Given the description of an element on the screen output the (x, y) to click on. 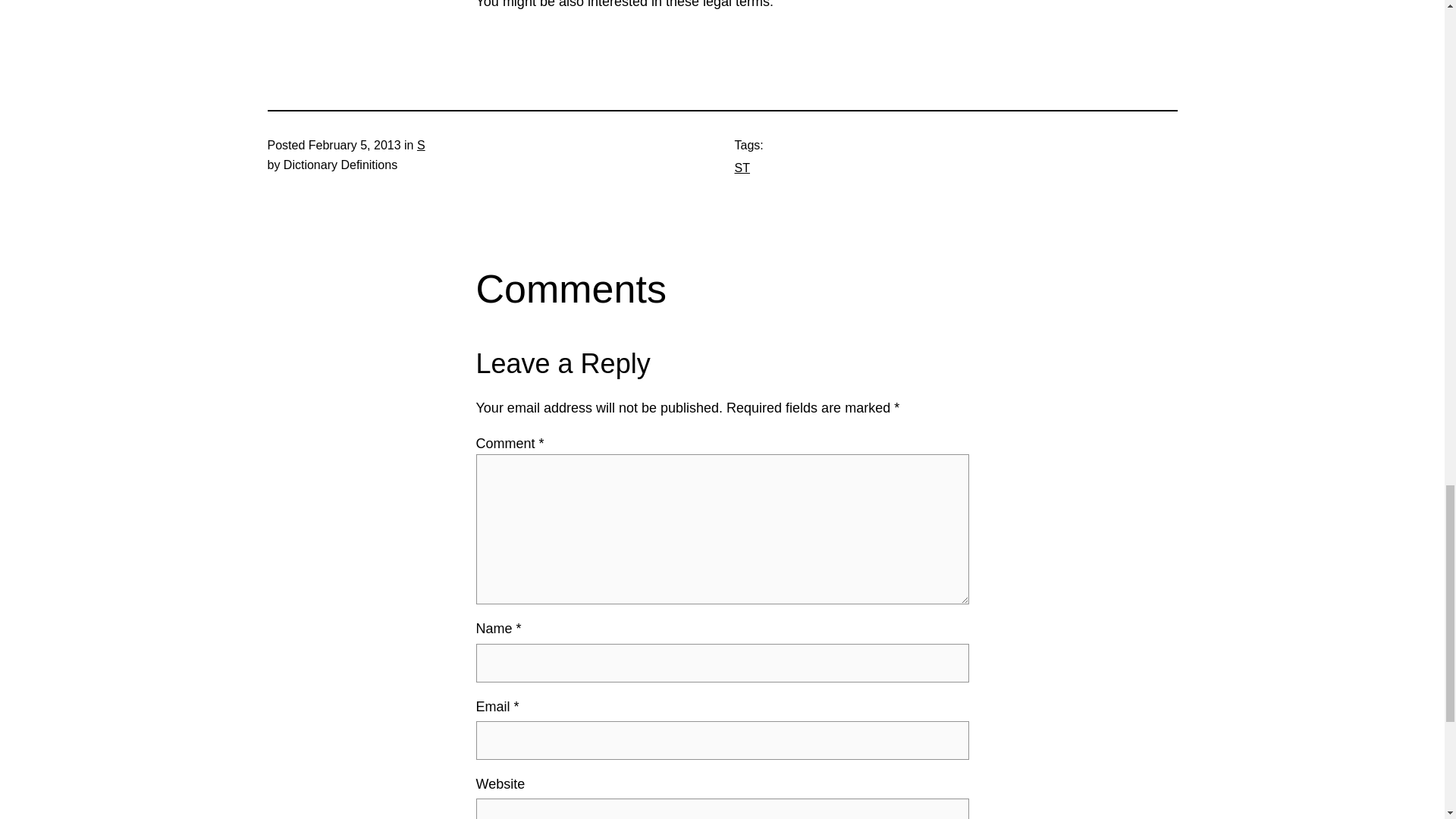
ST (741, 167)
